Given the description of an element on the screen output the (x, y) to click on. 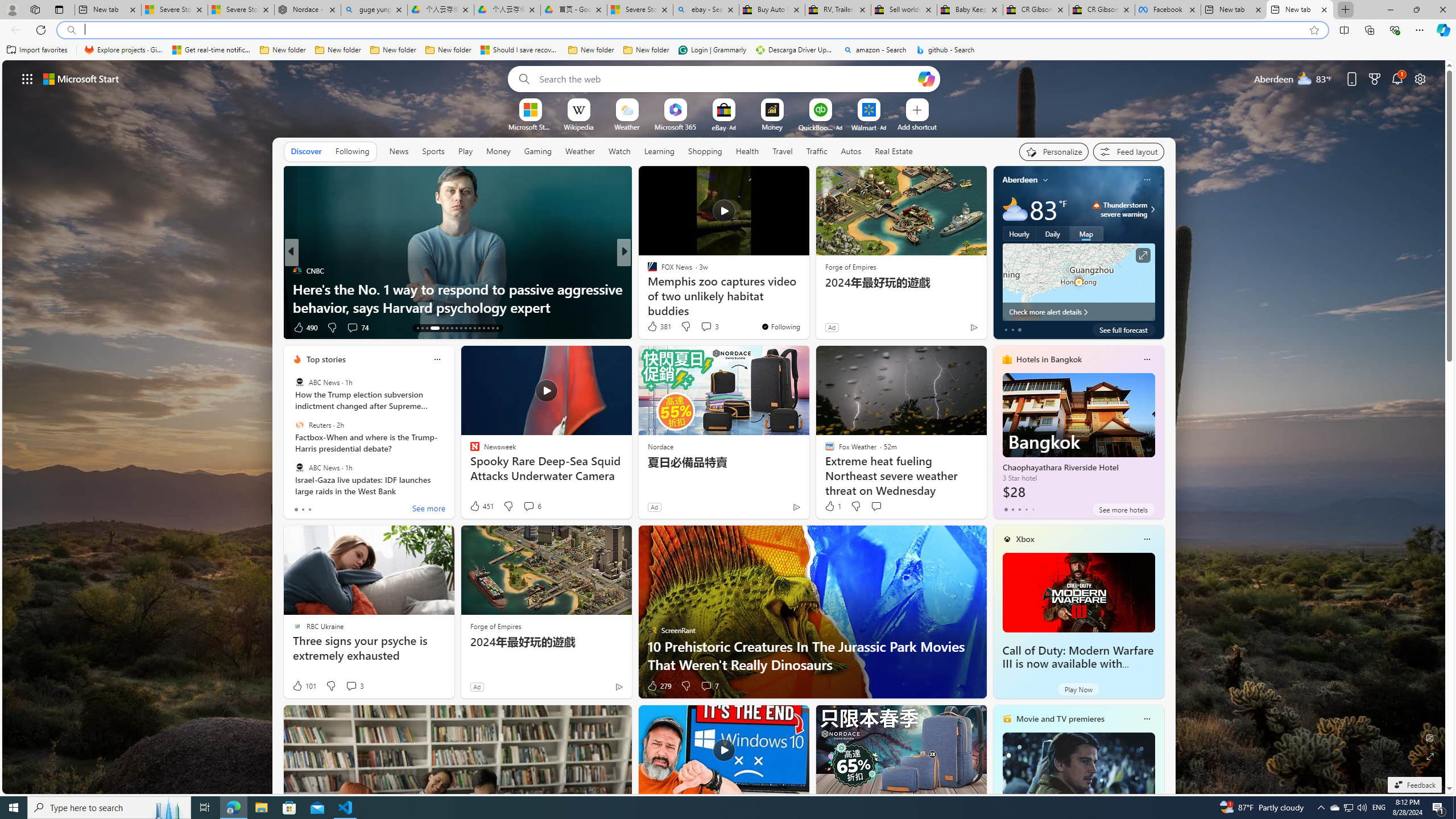
Edit Background (1430, 737)
Gaming (537, 151)
490 Like (304, 327)
AutomationID: tab-18 (446, 328)
Time (647, 270)
CNET (647, 288)
See full forecast (1123, 329)
Search icon (70, 29)
Page settings (1420, 78)
Health (746, 151)
Learning (659, 151)
